Given the description of an element on the screen output the (x, y) to click on. 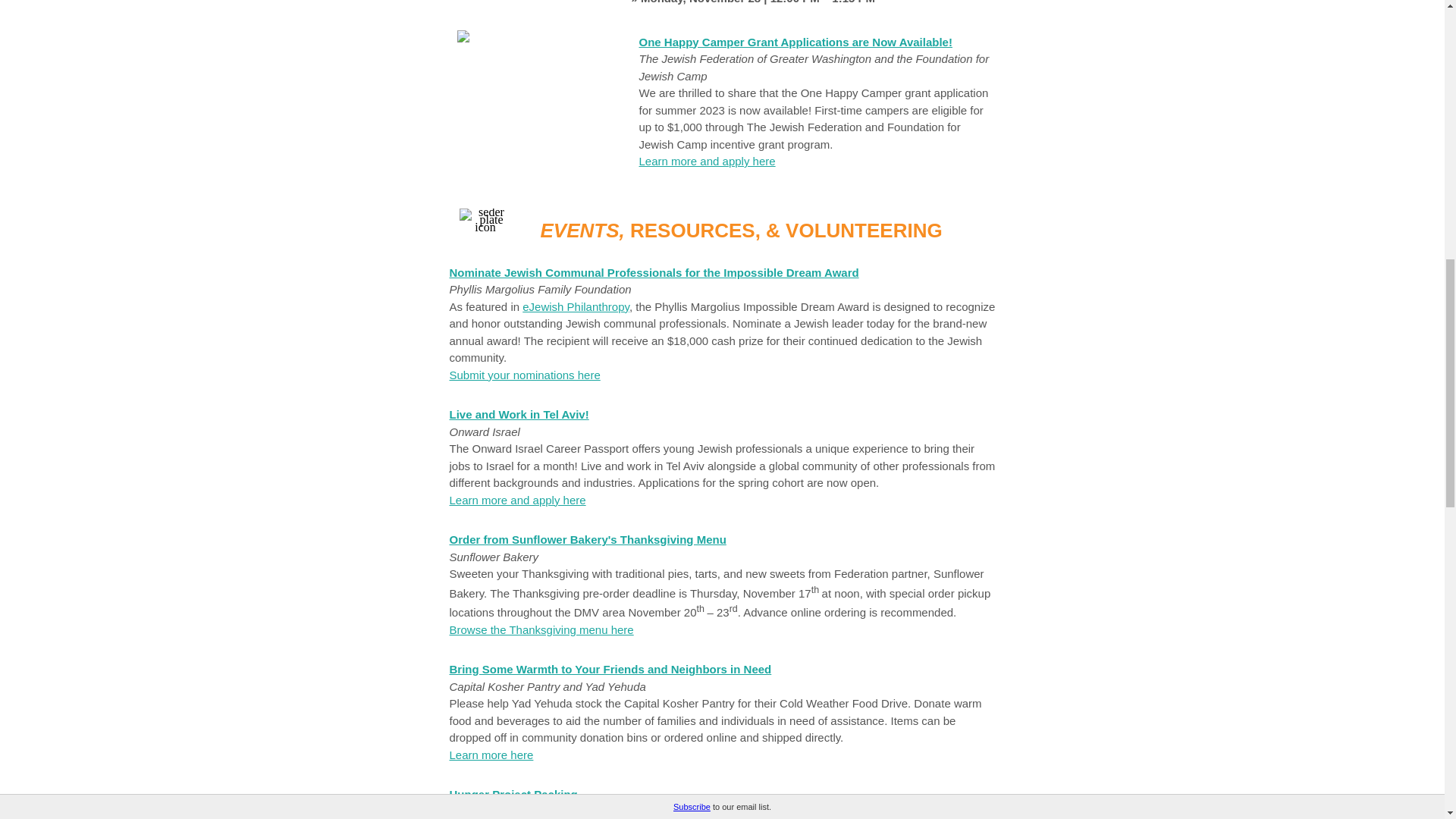
Bring Some Warmth to Your Friends and Neighbors in Need (609, 669)
Browse the Thanksgiving menu here (540, 629)
seder plate icon (486, 219)
Order from Sunflower Bakery's Thanksgiving Menu (586, 539)
One Happy Camper Grant Applications are Now Available! (795, 41)
Submit your nominations here (523, 374)
Learn more and apply here (516, 500)
Learn more and apply here (706, 161)
Hunger Project Packing (512, 793)
